Given the description of an element on the screen output the (x, y) to click on. 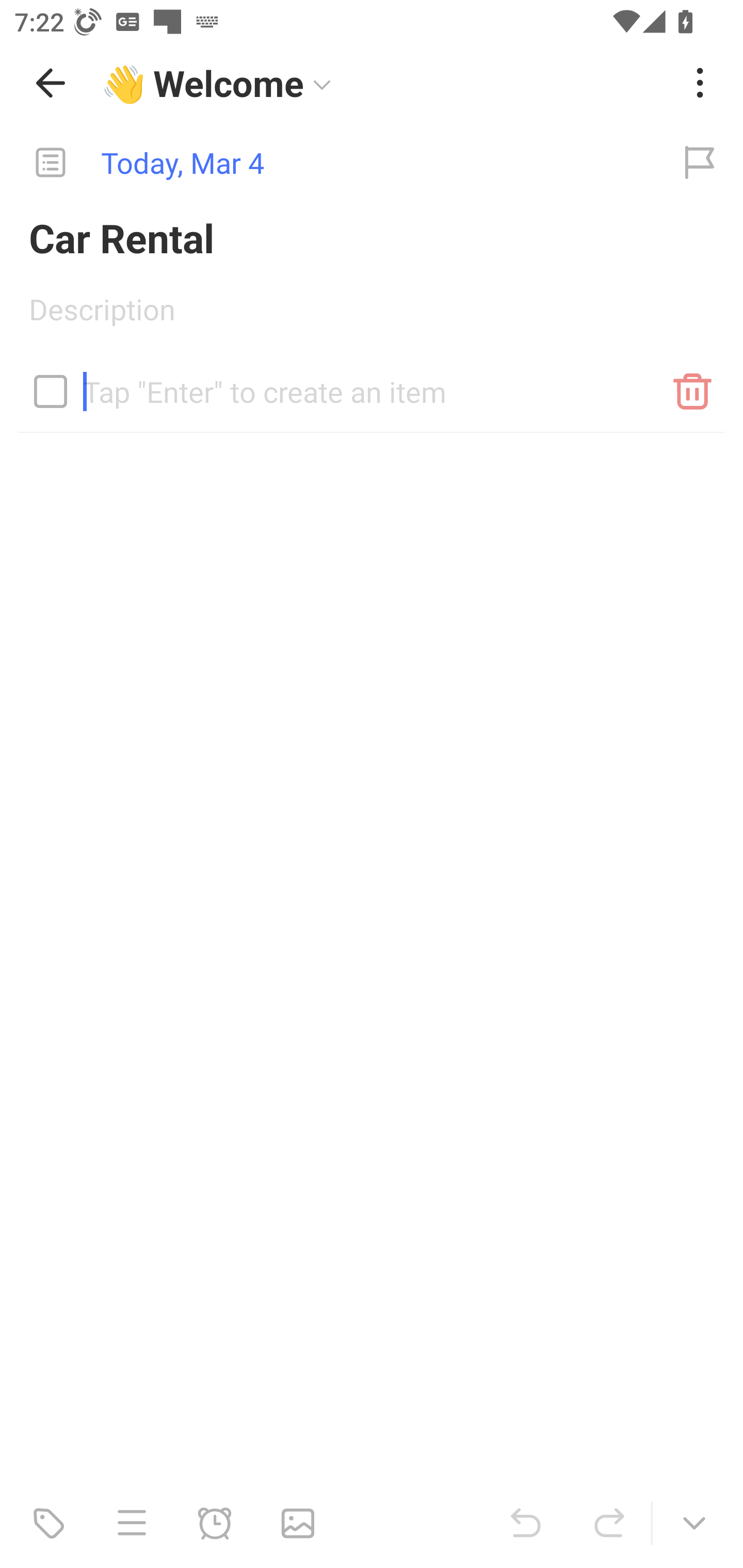
👋 Welcome (384, 82)
Today, Mar 4  (328, 163)
Car Rental (371, 237)
Description (371, 315)
  (50, 390)
Tap "Enter" to create an item (371, 383)
